Given the description of an element on the screen output the (x, y) to click on. 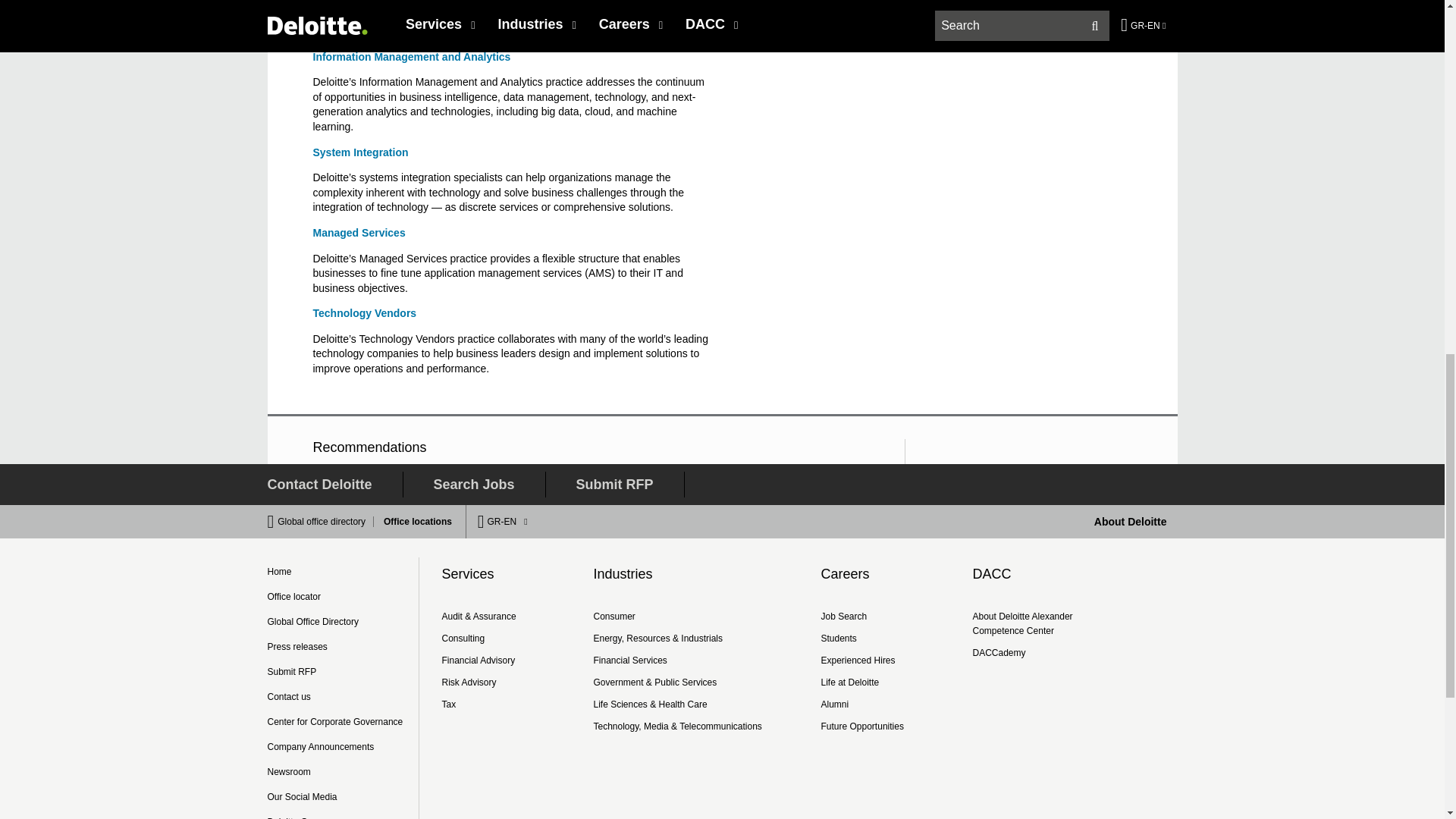
Office locations (413, 521)
About Deloitte (1130, 521)
Global office directory (326, 521)
